Given the description of an element on the screen output the (x, y) to click on. 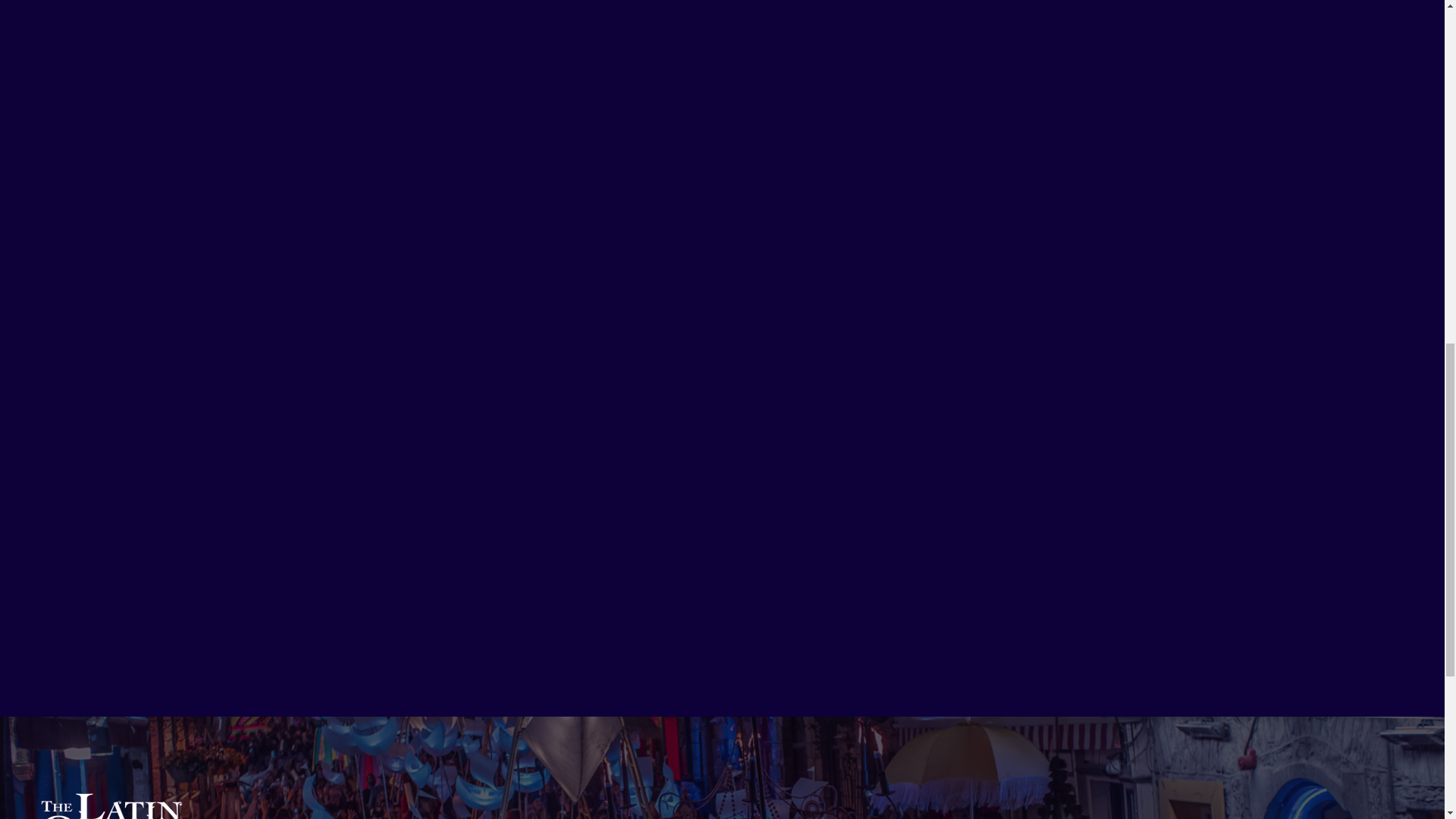
The-Latin-Quarter-Galway (114, 803)
